Given the description of an element on the screen output the (x, y) to click on. 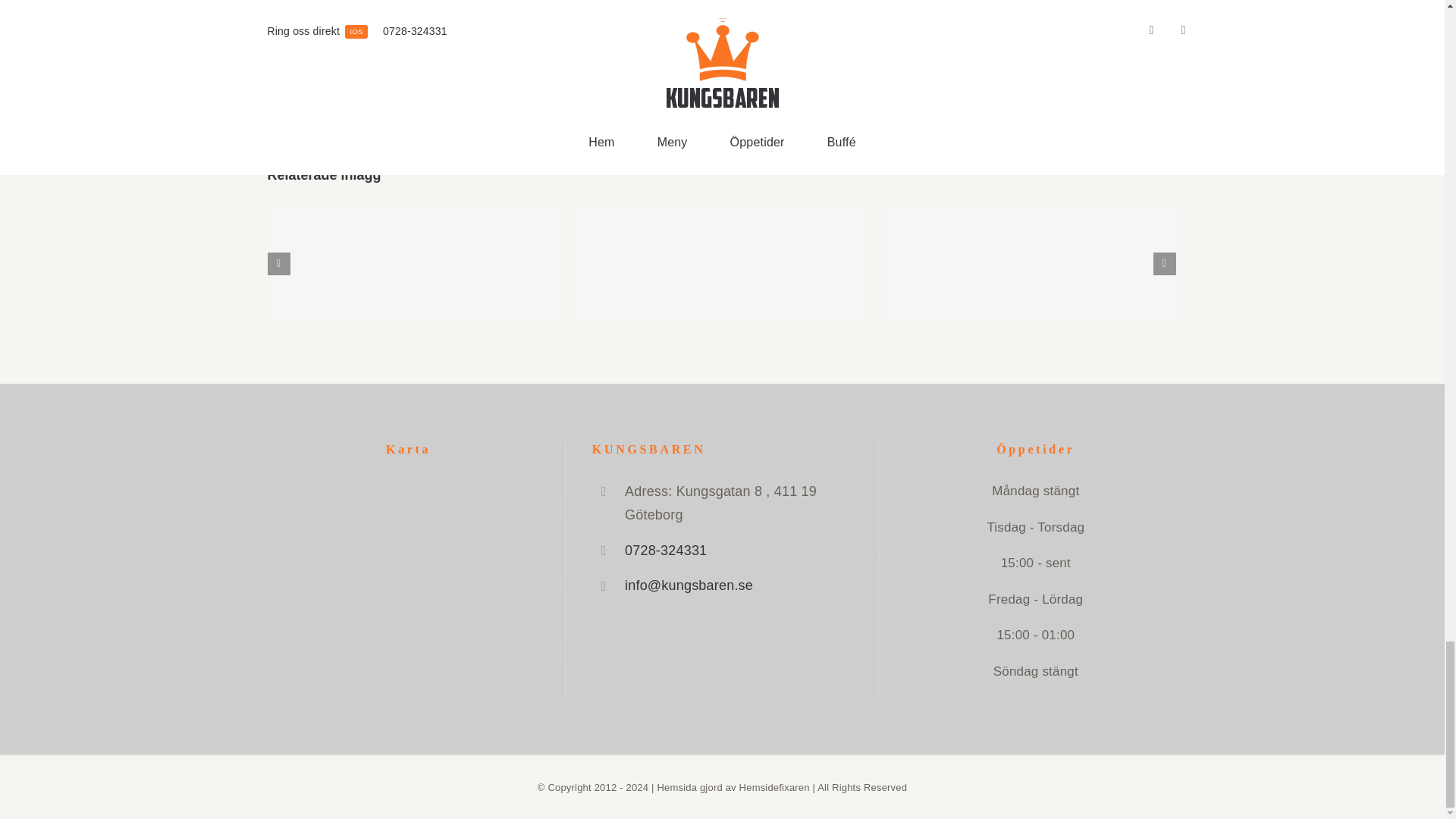
hakan (390, 38)
